Given the description of an element on the screen output the (x, y) to click on. 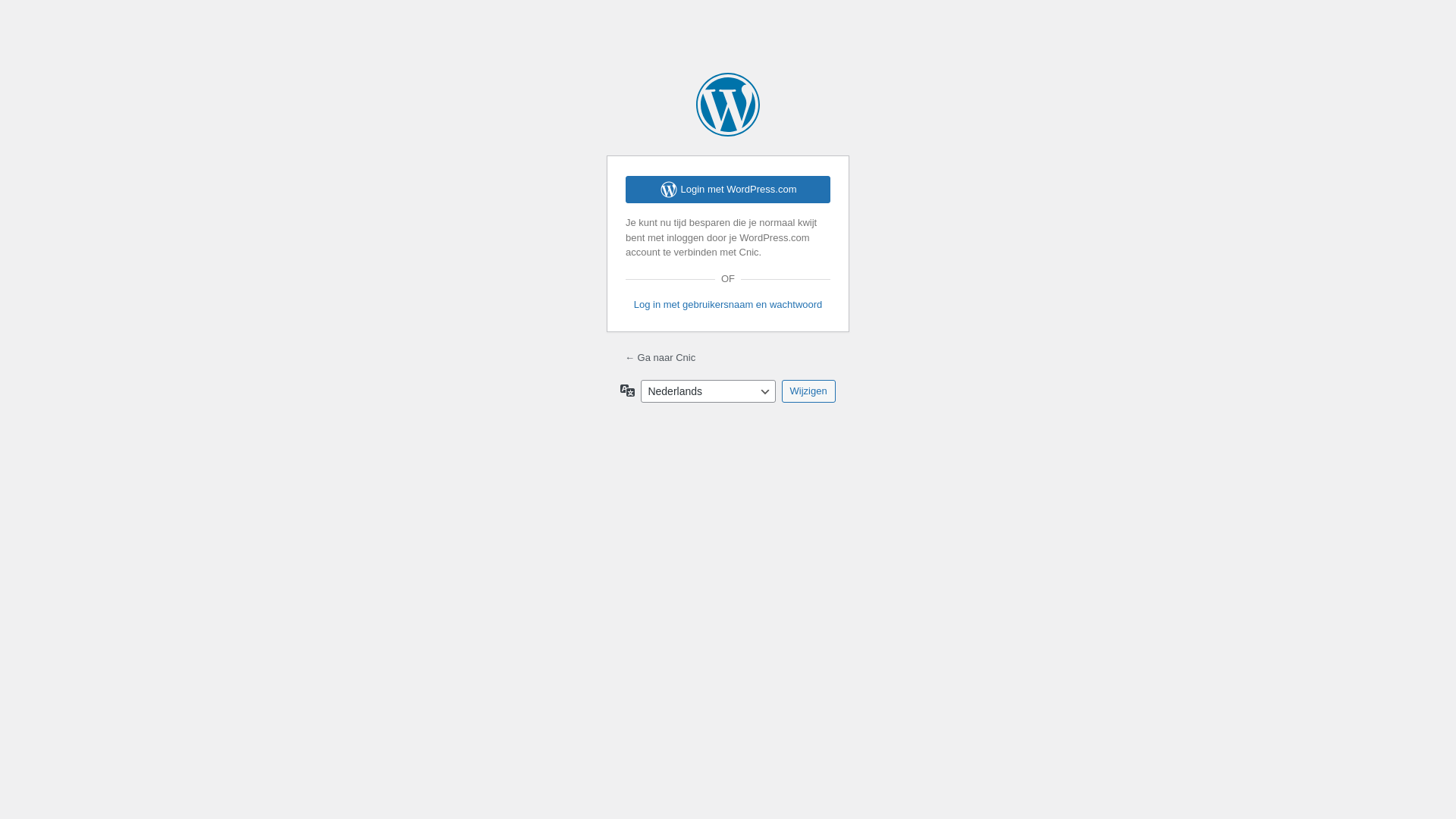
Wijzigen Element type: text (808, 390)
Mogelijk gemaakt door WordPress Element type: text (727, 104)
Log in met gebruikersnaam en wachtwoord Element type: text (727, 304)
Login met WordPress.com Element type: text (727, 189)
